Given the description of an element on the screen output the (x, y) to click on. 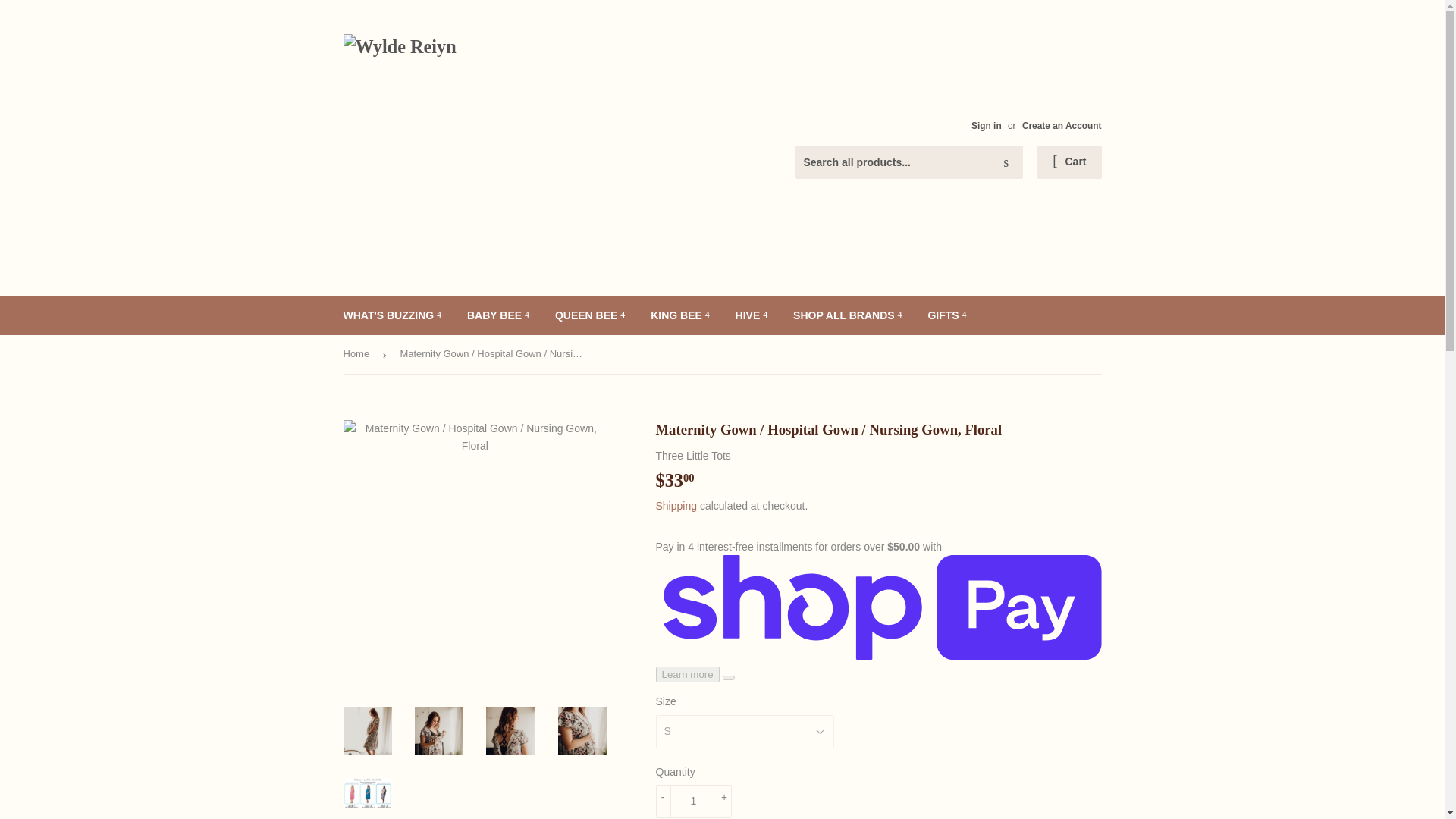
Create an Account (1062, 125)
Search (1005, 163)
Cart (1068, 162)
Sign in (986, 125)
1 (692, 801)
